Given the description of an element on the screen output the (x, y) to click on. 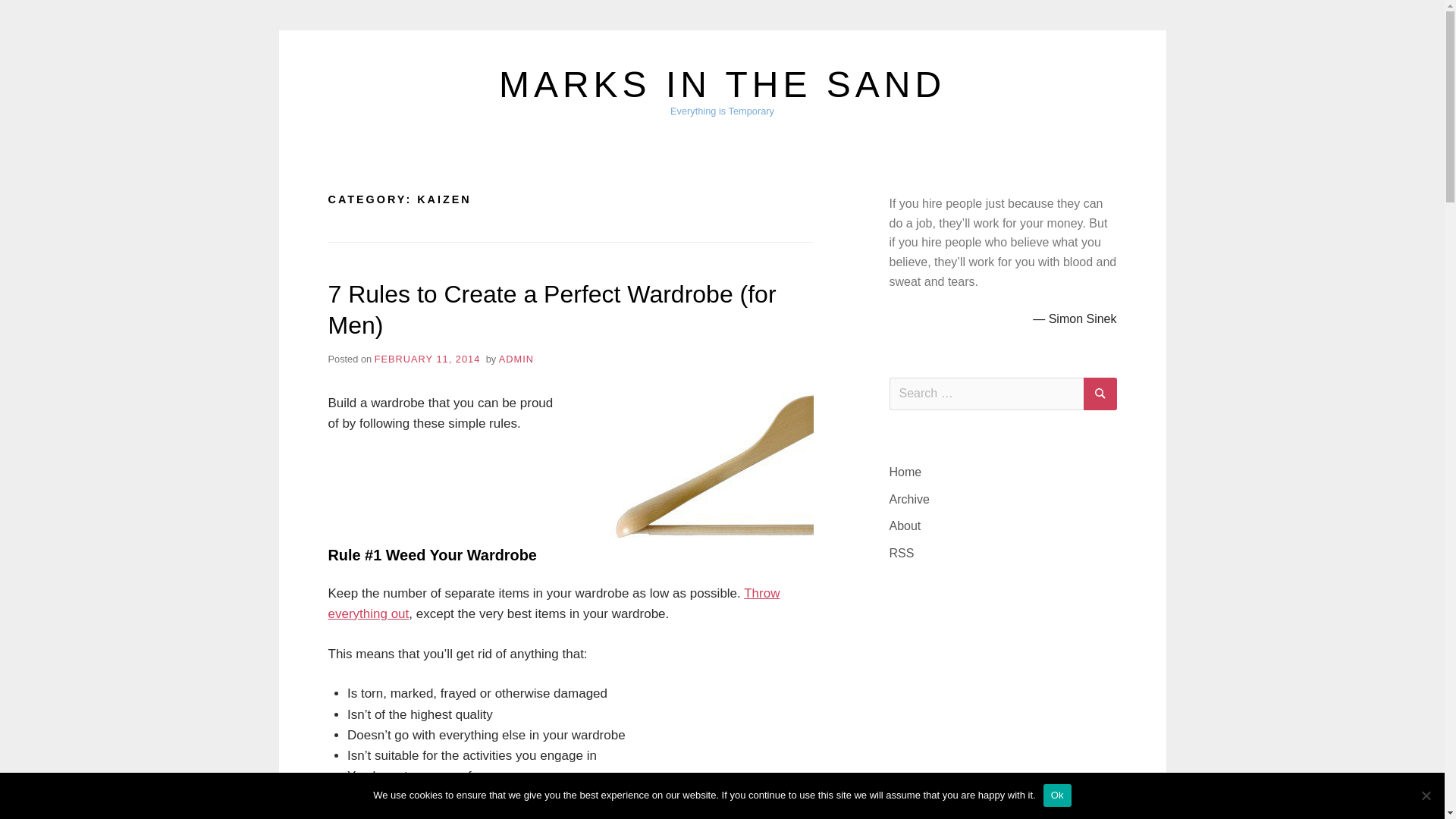
About (904, 525)
ADMIN (516, 358)
Throw everything out (552, 603)
FEBRUARY 11, 2014 (427, 358)
Search (1099, 393)
Disposing of Stuff (552, 603)
Archive (908, 499)
Ok (1057, 794)
RSS (901, 553)
